Given the description of an element on the screen output the (x, y) to click on. 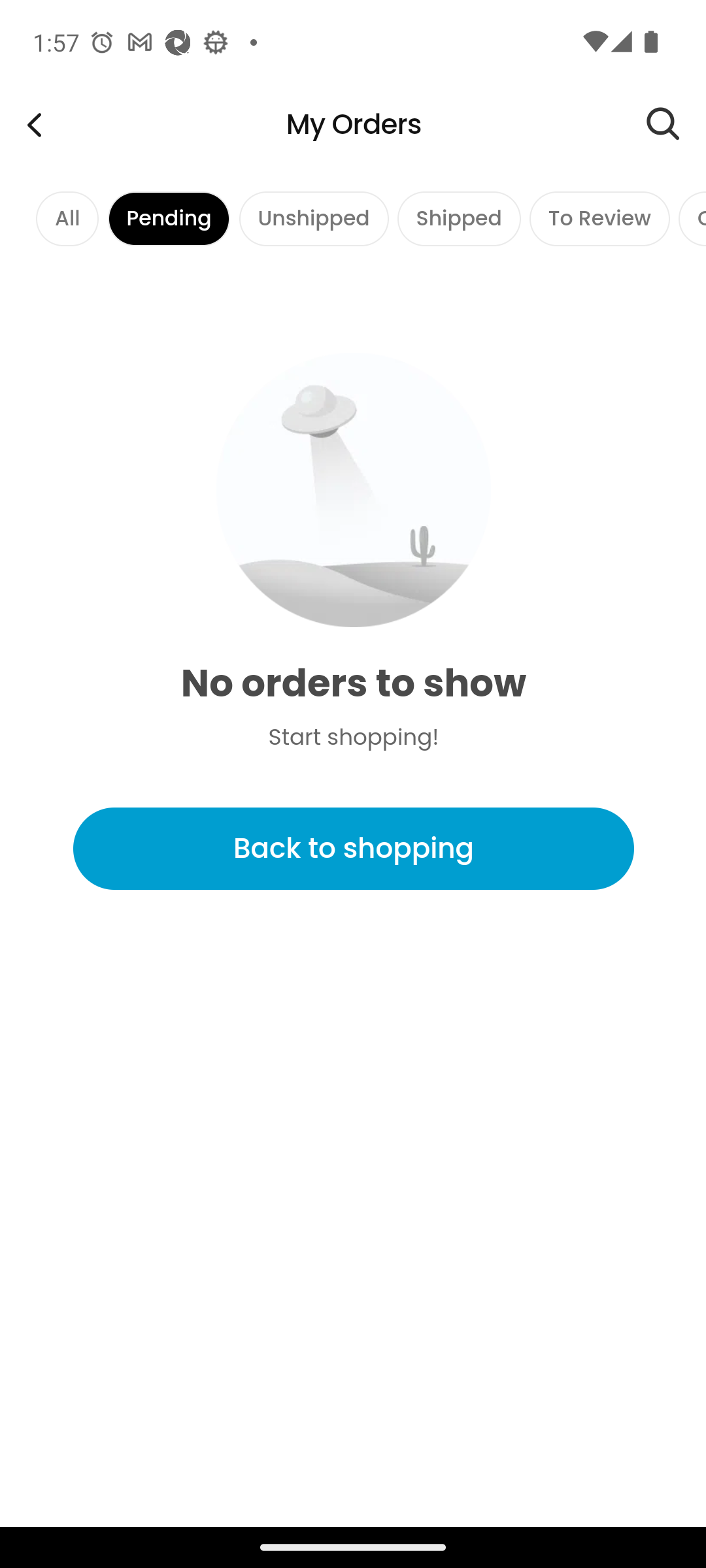
Weee! - Groceries Delivered (33, 124)
 (675, 124)
All (66, 218)
Pending (168, 218)
Unshipped (313, 218)
Shipped (458, 218)
To Review (599, 218)
Back to shopping (353, 848)
